Given the description of an element on the screen output the (x, y) to click on. 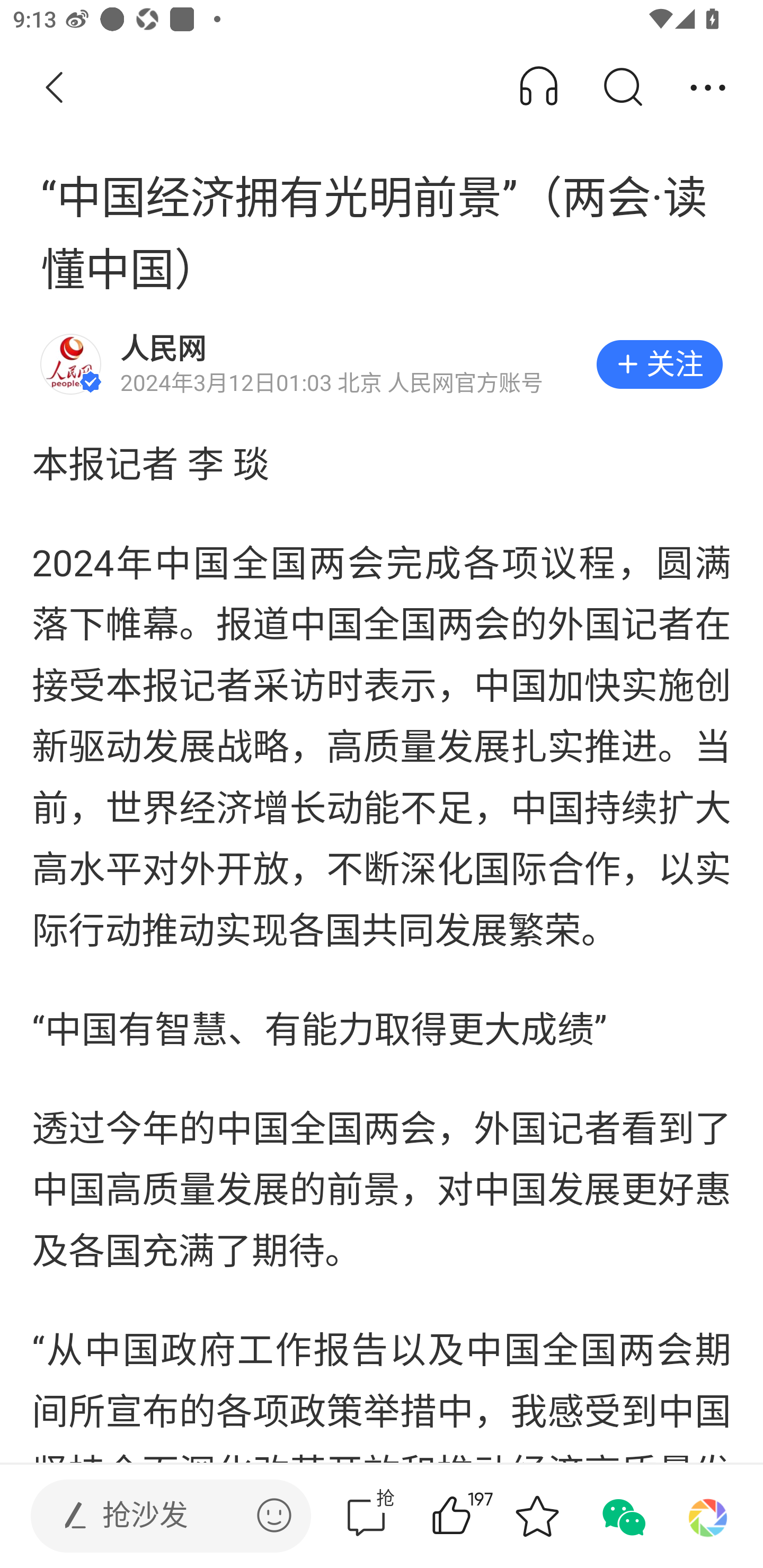
搜索  (622, 87)
分享  (707, 87)
 返回 (54, 87)
人民网 2024年3月12日01:03 北京 人民网官方账号  关注 (381, 364)
 关注 (659, 364)
发表评论  抢沙发 发表评论  (155, 1516)
抢评论  抢 评论 (365, 1516)
197赞 (476, 1516)
收藏  (536, 1516)
分享到微信  (622, 1516)
分享到朋友圈 (707, 1516)
 (274, 1515)
